Given the description of an element on the screen output the (x, y) to click on. 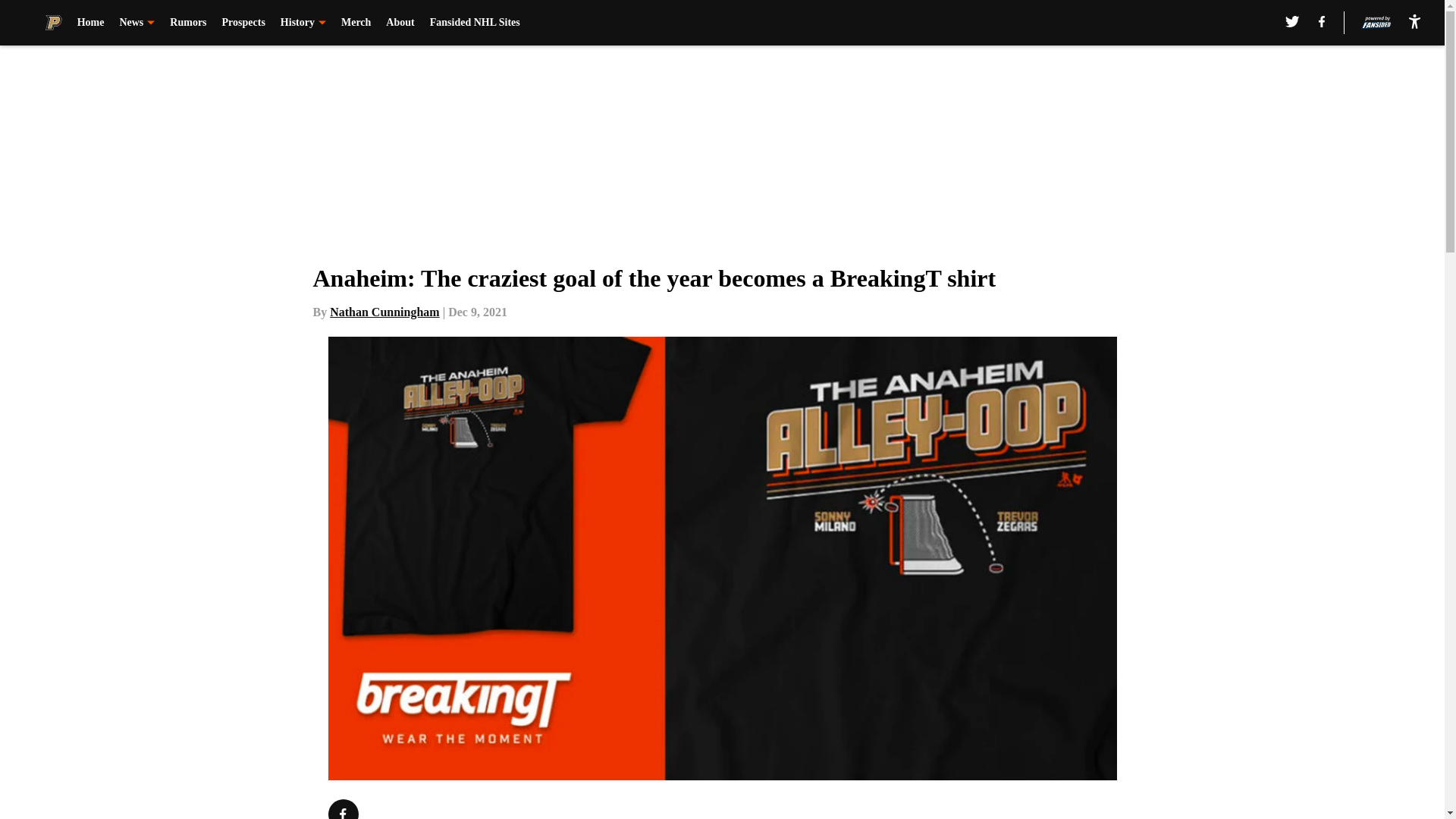
Home (90, 22)
Fansided NHL Sites (474, 22)
Nathan Cunningham (384, 311)
Prospects (243, 22)
Merch (355, 22)
Rumors (188, 22)
About (399, 22)
